Given the description of an element on the screen output the (x, y) to click on. 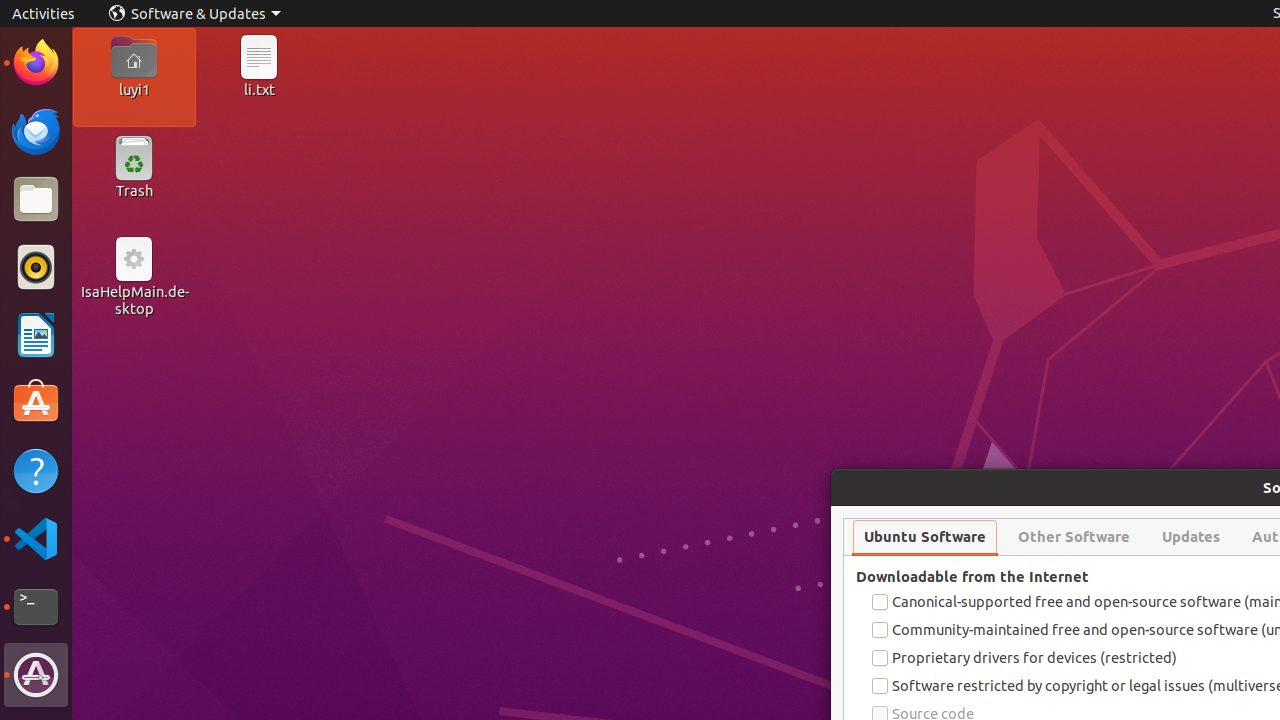
Updates Element type: page-tab (1191, 537)
Software & Updates Element type: push-button (36, 675)
luyi1 Element type: label (133, 89)
